Given the description of an element on the screen output the (x, y) to click on. 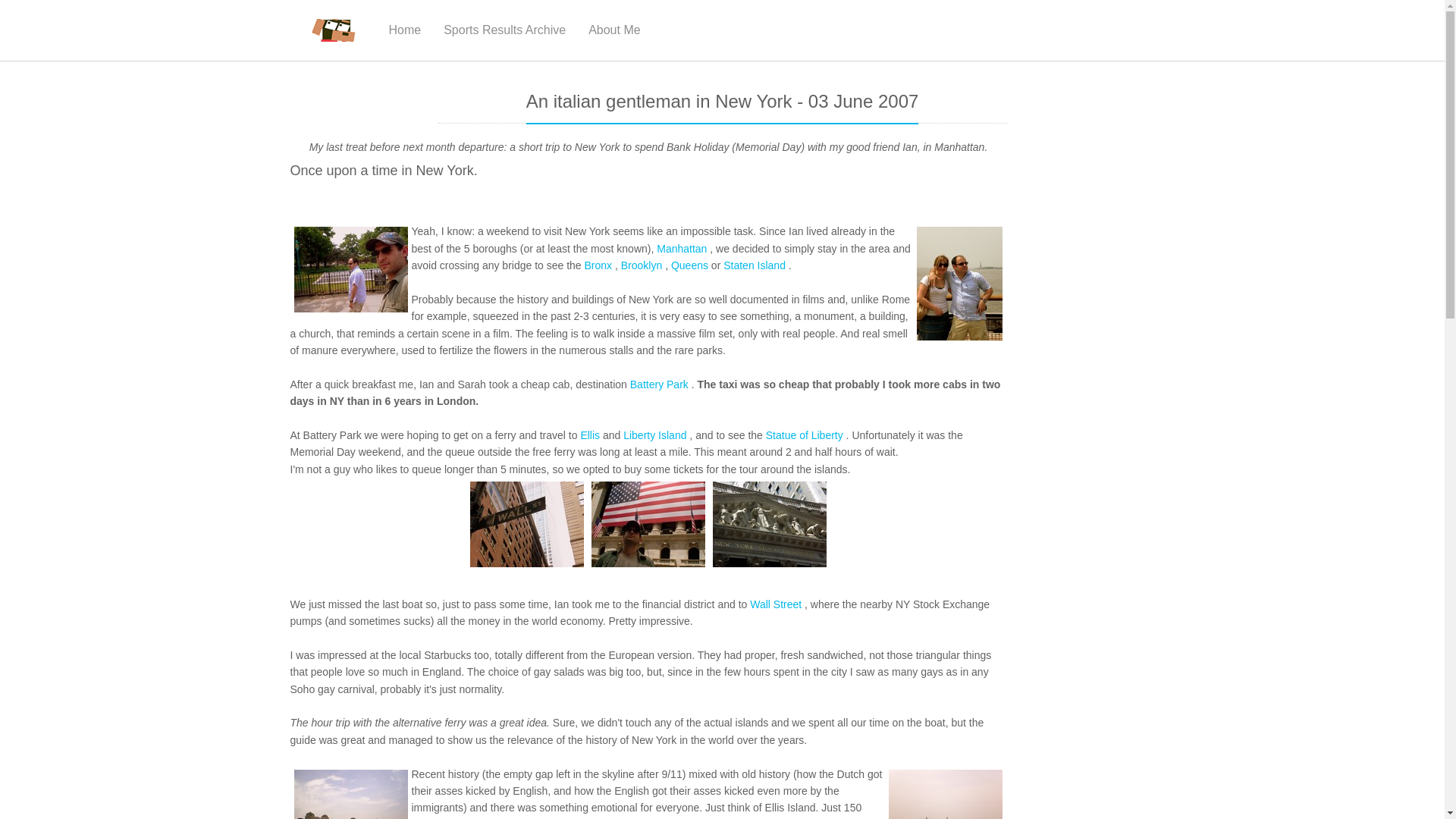
Brooklyn (641, 265)
Home (404, 30)
Statue of Liberty (804, 435)
Staten Island (754, 265)
Liberty Island (654, 435)
New York Skyline (350, 794)
Financial District (647, 524)
Queens (689, 265)
About Me (613, 30)
Wall Street (775, 604)
